Given the description of an element on the screen output the (x, y) to click on. 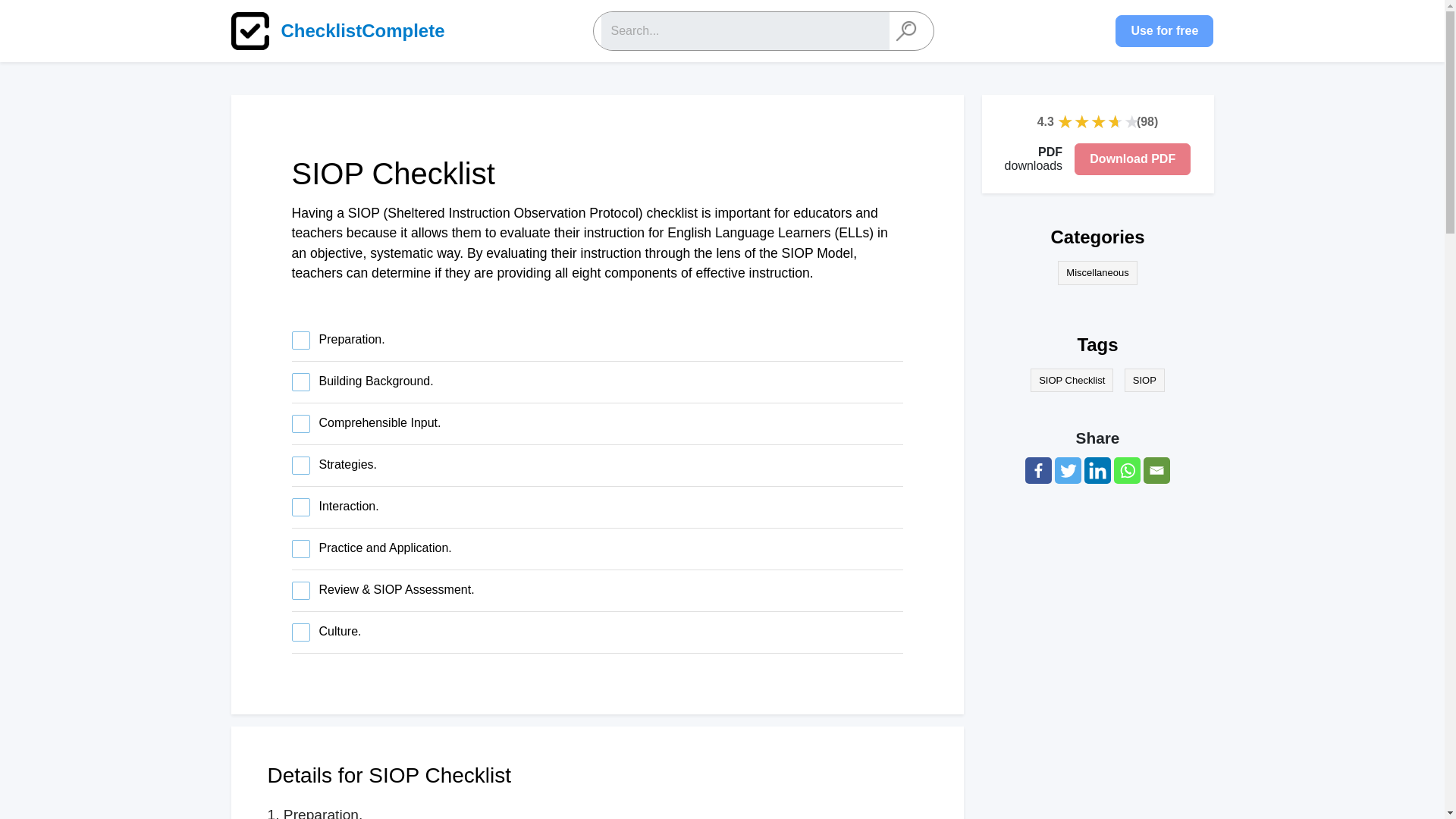
Linkedin (1097, 470)
SIOP (1144, 380)
Miscellaneous (1097, 273)
Use for free (1163, 30)
Facebook (1038, 470)
ChecklistComplete (346, 30)
Email (1156, 470)
Whatsapp (1126, 470)
Download PDF (1132, 159)
Twitter (1067, 470)
SIOP Checklist (1071, 380)
